Given the description of an element on the screen output the (x, y) to click on. 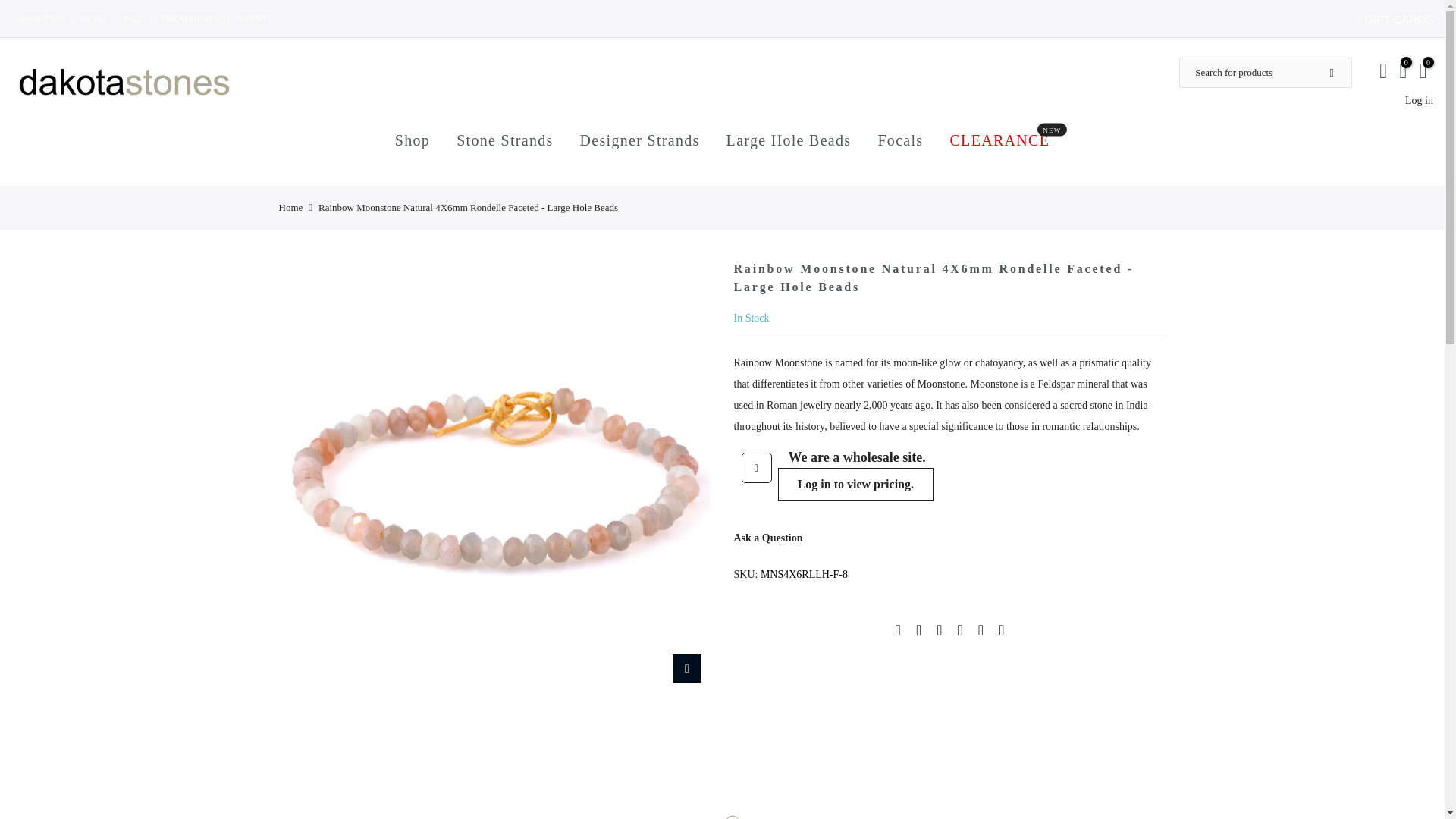
Log in (1418, 100)
BLOG (93, 18)
Home (290, 207)
Stone Strands (999, 140)
Log in to view pricing. (505, 140)
ABOUT US (855, 483)
EVENTS (39, 18)
GIFT CARDS (255, 18)
Log in to view pricing. (1396, 19)
Large Hole Beads (855, 484)
TREATMENTS (788, 140)
Ask a Question (189, 18)
FAQ (768, 537)
Designer Strands (132, 18)
